Given the description of an element on the screen output the (x, y) to click on. 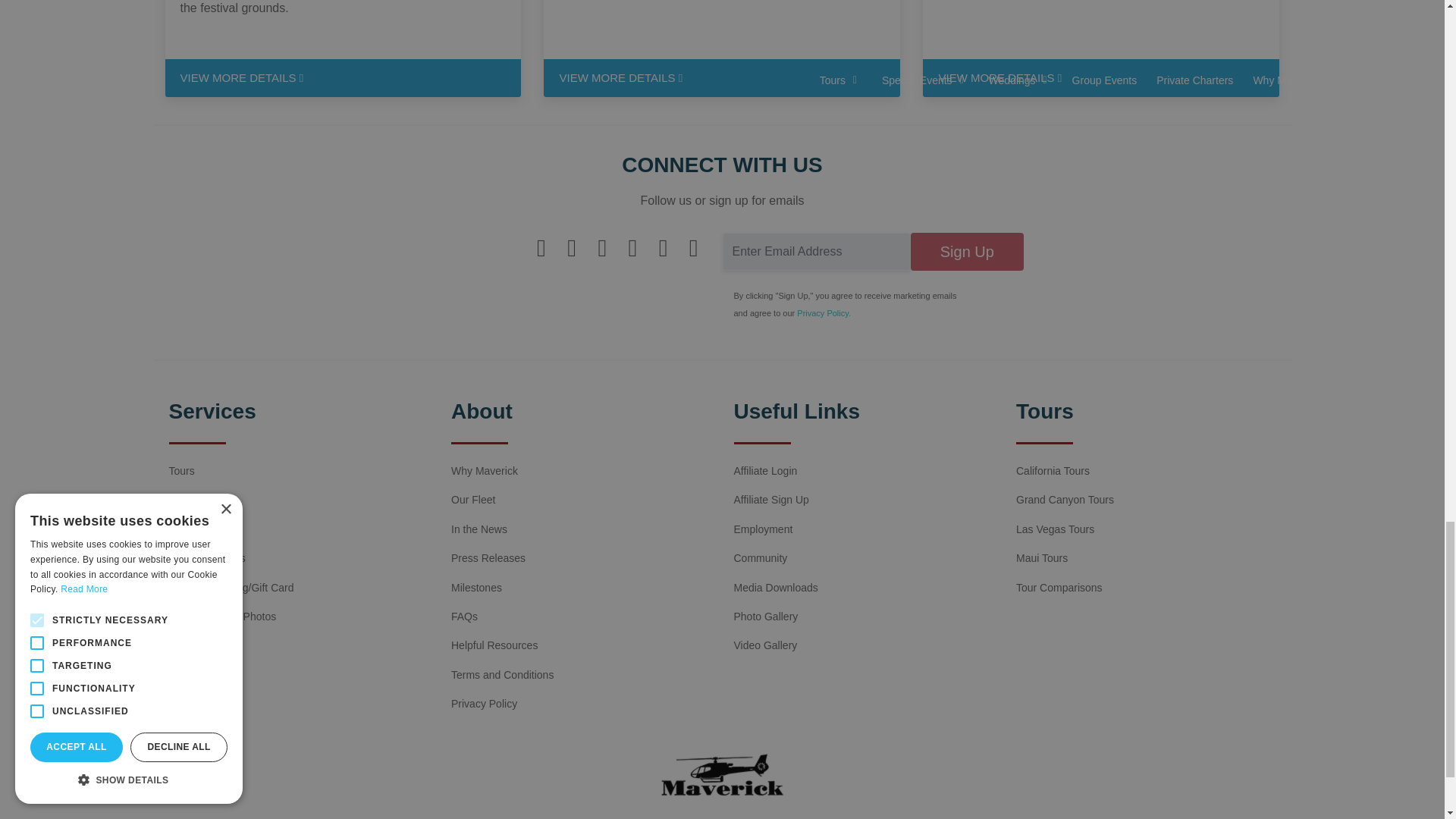
Maverick Helicopter Tours (721, 774)
Sign Up (967, 251)
